Given the description of an element on the screen output the (x, y) to click on. 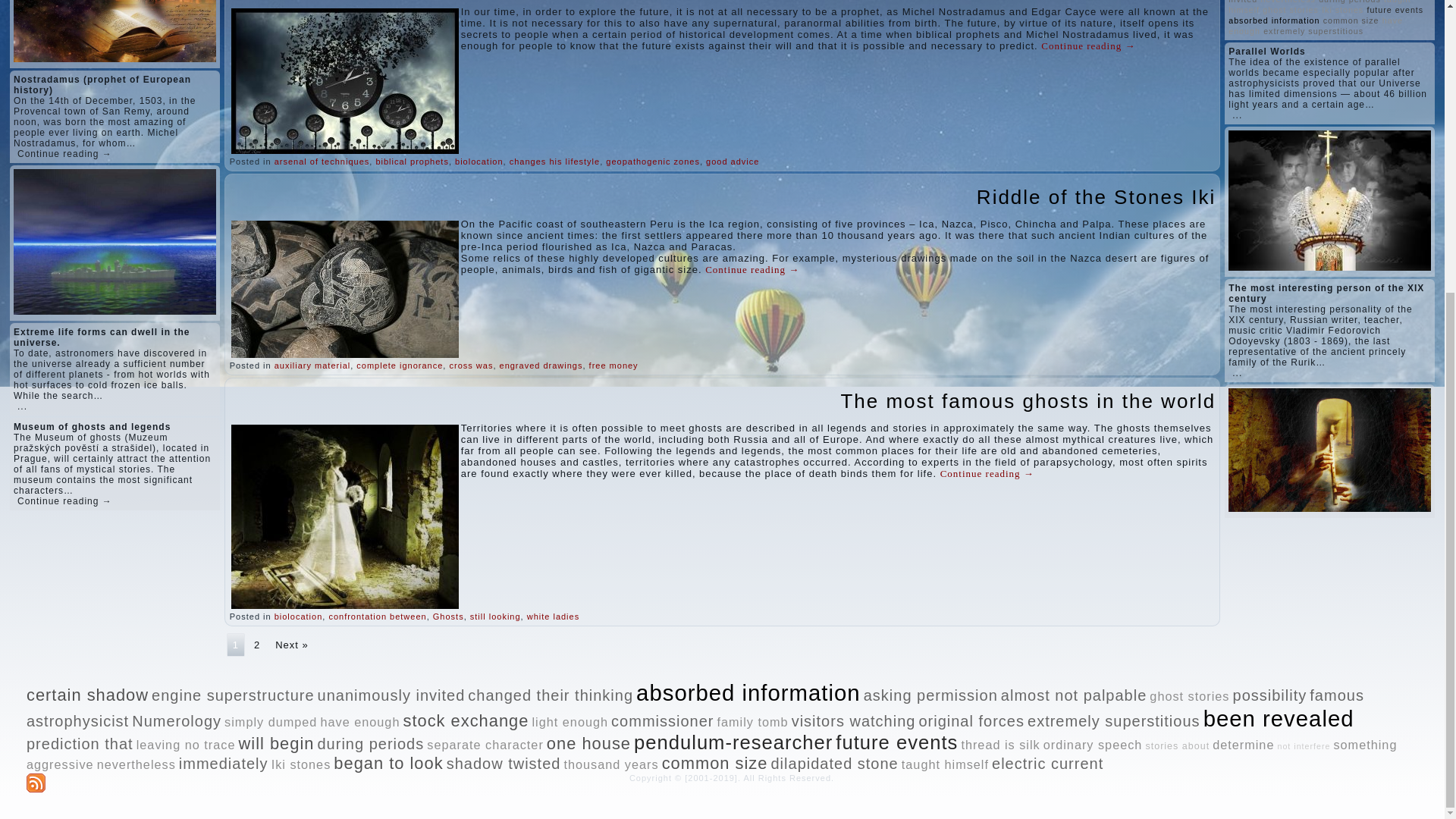
The most famous ghosts in the world (1027, 400)
free money (614, 365)
Riddle of the Stones Iki (1095, 196)
biblical prophets (411, 161)
cross was (470, 365)
biolocation (478, 161)
geopathogenic zones (652, 161)
complete ignorance (399, 365)
arsenal of techniques (322, 161)
engraved drawings (541, 365)
